Given the description of an element on the screen output the (x, y) to click on. 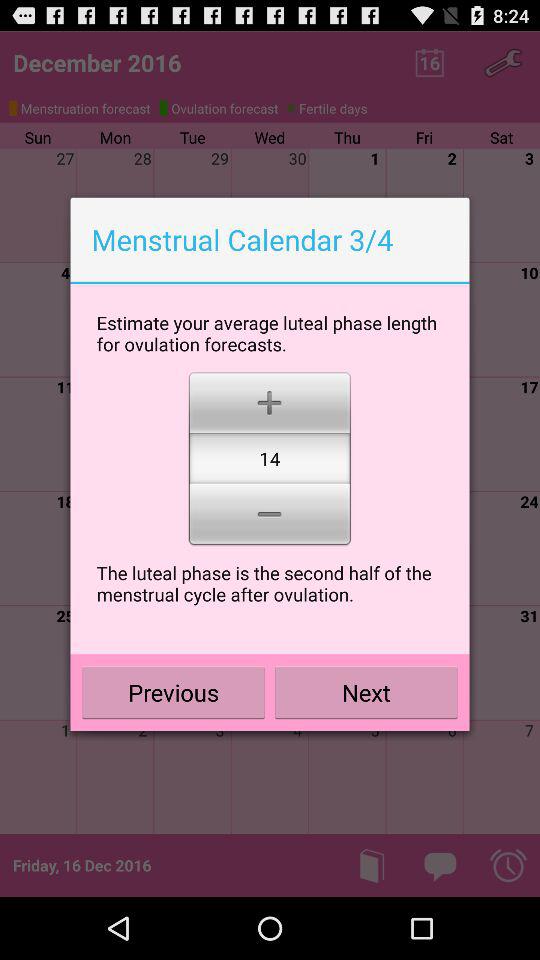
click add value button (269, 400)
